Given the description of an element on the screen output the (x, y) to click on. 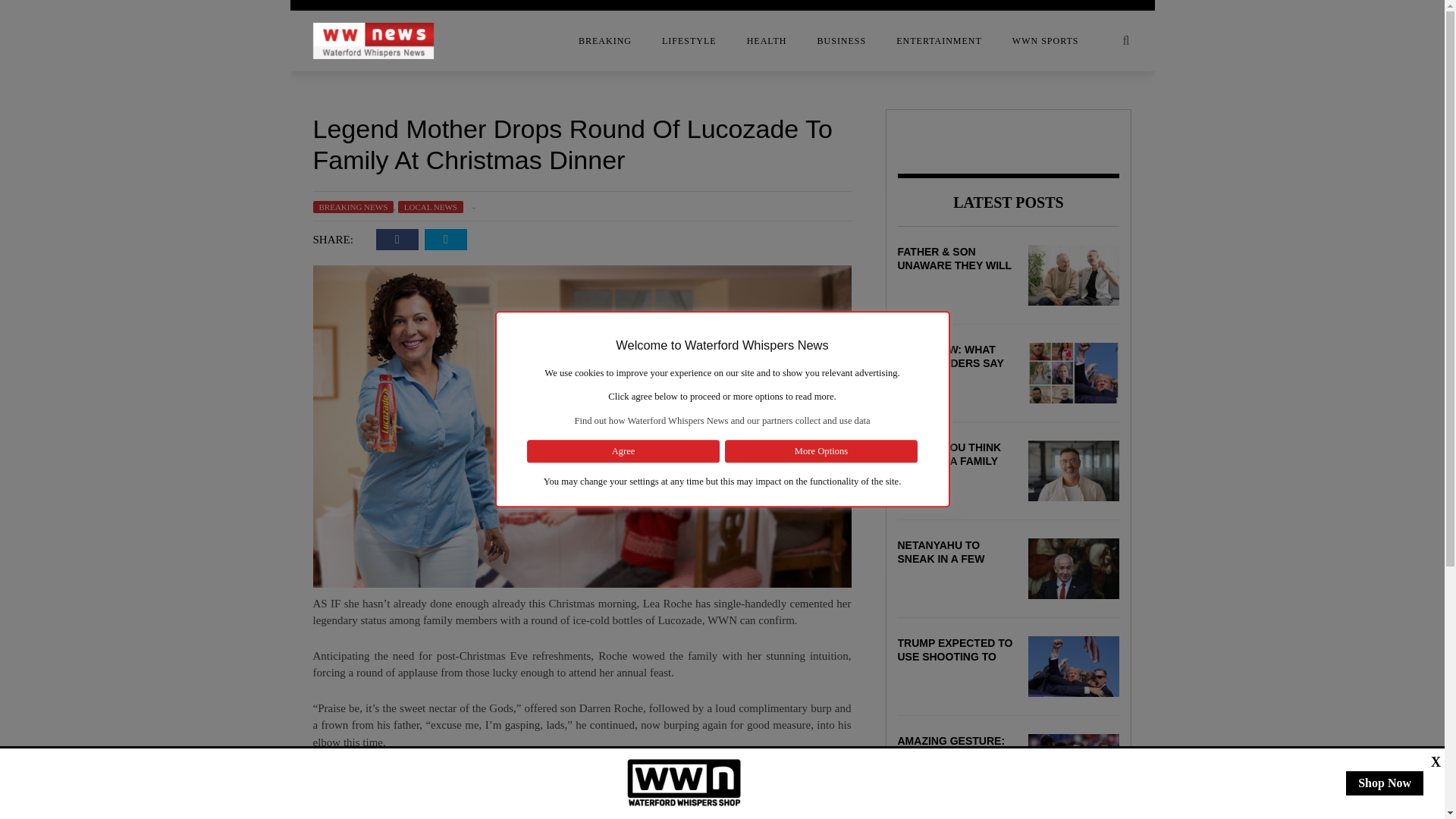
HOMEPAGE (191, 177)
COMPETITION RULES (191, 86)
YOUR PRIVACY SETTINGS (191, 268)
NEWSLETTER SIGN UP FORM (191, 207)
PRIVACY (191, 237)
CONTACT US (191, 116)
DISCLAIMER (191, 146)
BREAKING (604, 40)
Support us on waterfordwhispers.shop (684, 782)
